Given the description of an element on the screen output the (x, y) to click on. 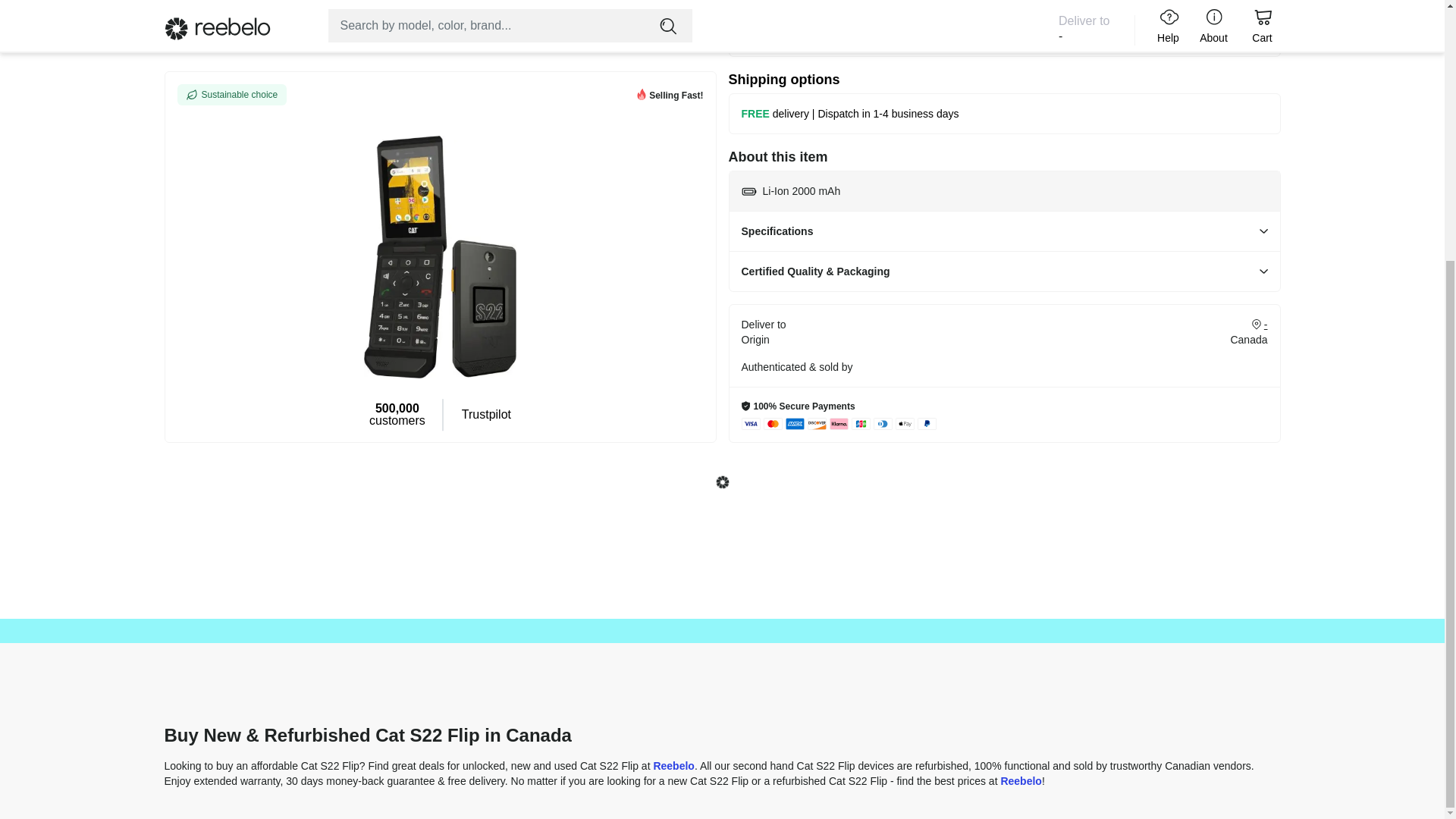
Reebelo (1020, 780)
Reebelo (673, 766)
American Express (795, 423)
Specifications (1004, 230)
Visa (750, 423)
Klarna (838, 423)
Appley Pay (904, 423)
PayPal (926, 423)
JCB (859, 423)
Trustpilot (486, 78)
Discover (815, 423)
Diners Club (882, 423)
Mastercard (771, 423)
